Given the description of an element on the screen output the (x, y) to click on. 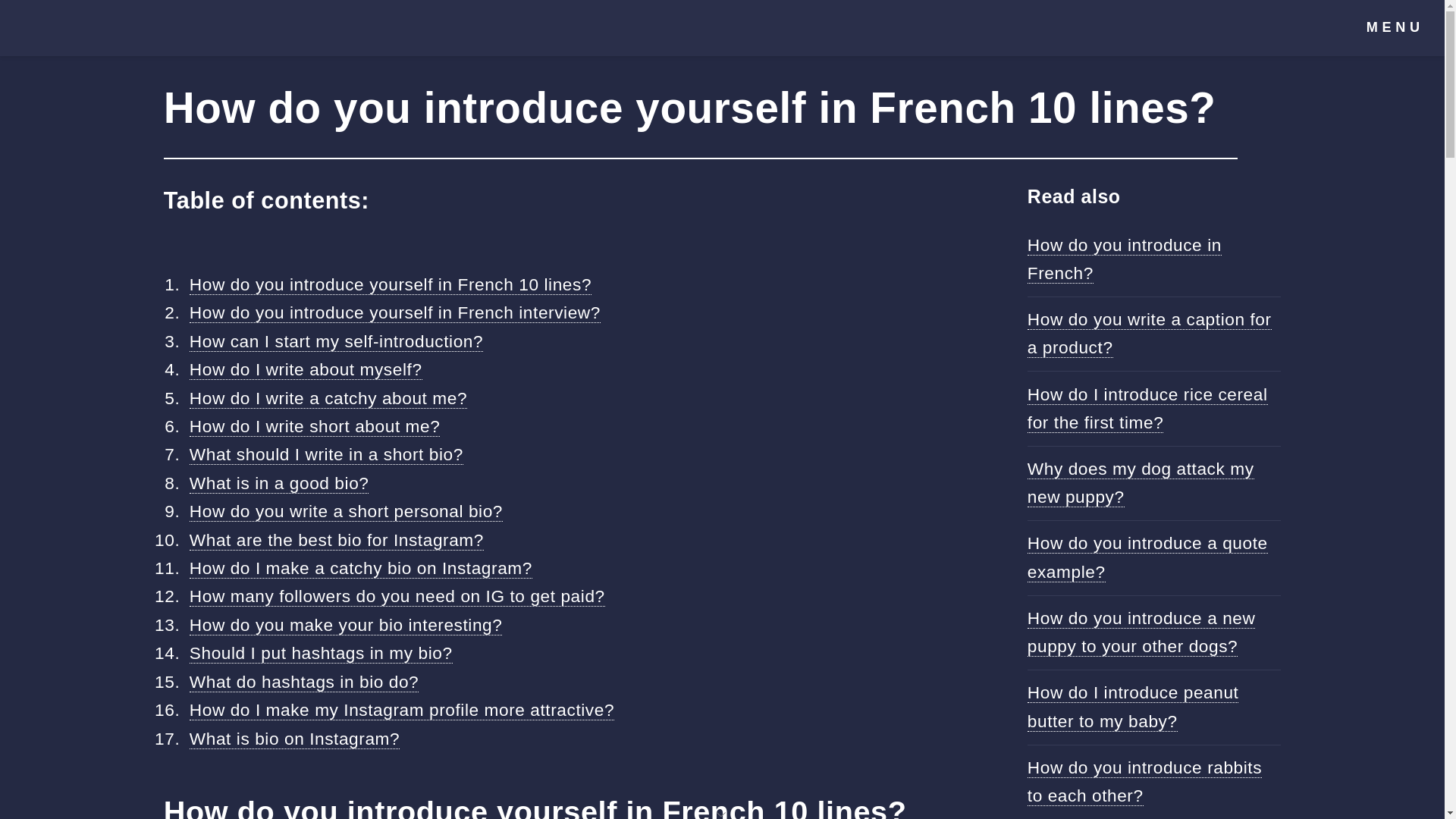
How do you make your bio interesting? (345, 625)
How do you introduce rabbits to each other? (1144, 781)
How do I introduce peanut butter to my baby? (1133, 706)
How do you write a short personal bio? (345, 511)
How can I start my self-introduction? (336, 341)
What is in a good bio? (279, 483)
How do I write short about me? (315, 426)
How do you introduce in French? (1124, 259)
Should I put hashtags in my bio? (320, 652)
How many followers do you need on IG to get paid? (397, 596)
